Given the description of an element on the screen output the (x, y) to click on. 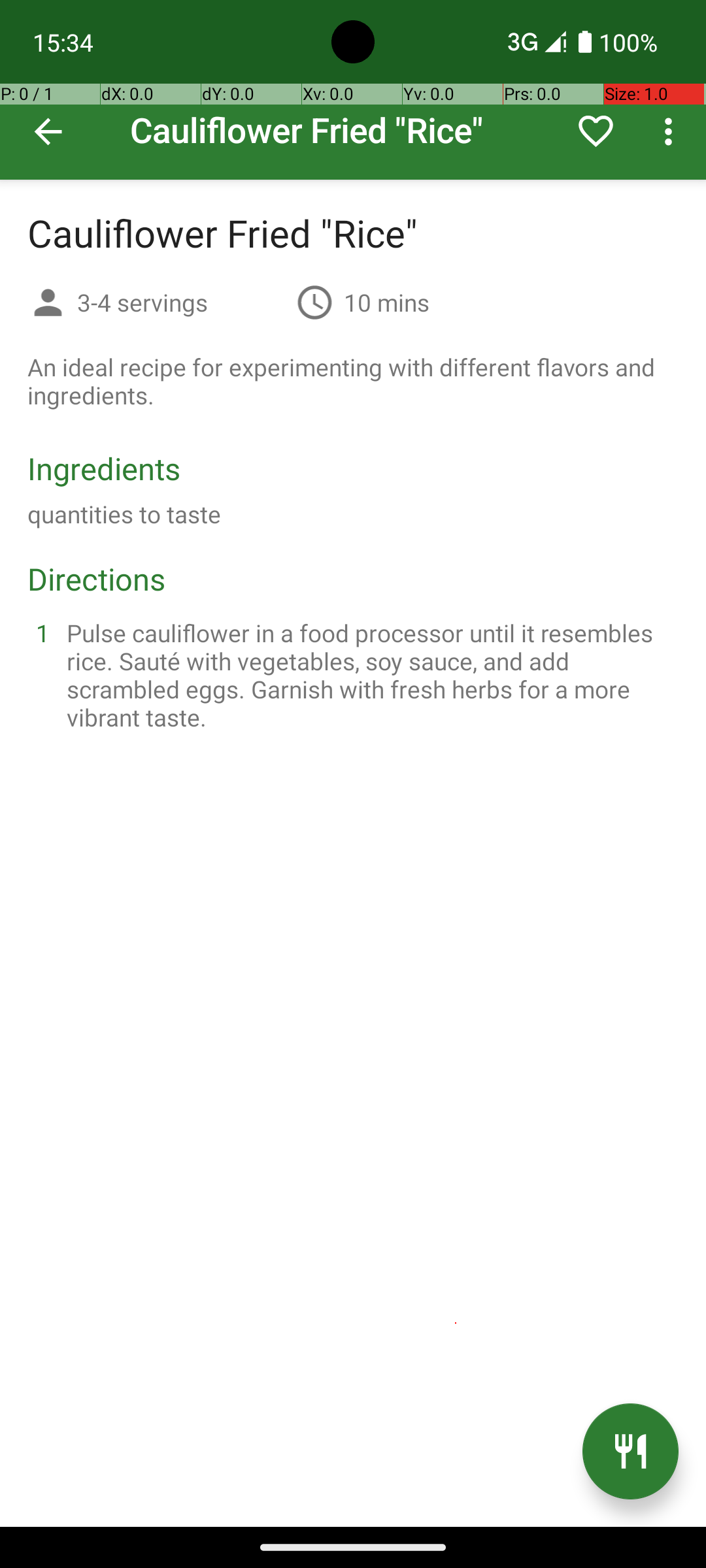
10 mins Element type: android.widget.TextView (386, 301)
quantities to taste Element type: android.widget.TextView (123, 513)
Pulse cauliflower in a food processor until it resembles rice. Sauté with vegetables, soy sauce, and add scrambled eggs. Garnish with fresh herbs for a more vibrant taste. Element type: android.widget.TextView (368, 674)
